Given the description of an element on the screen output the (x, y) to click on. 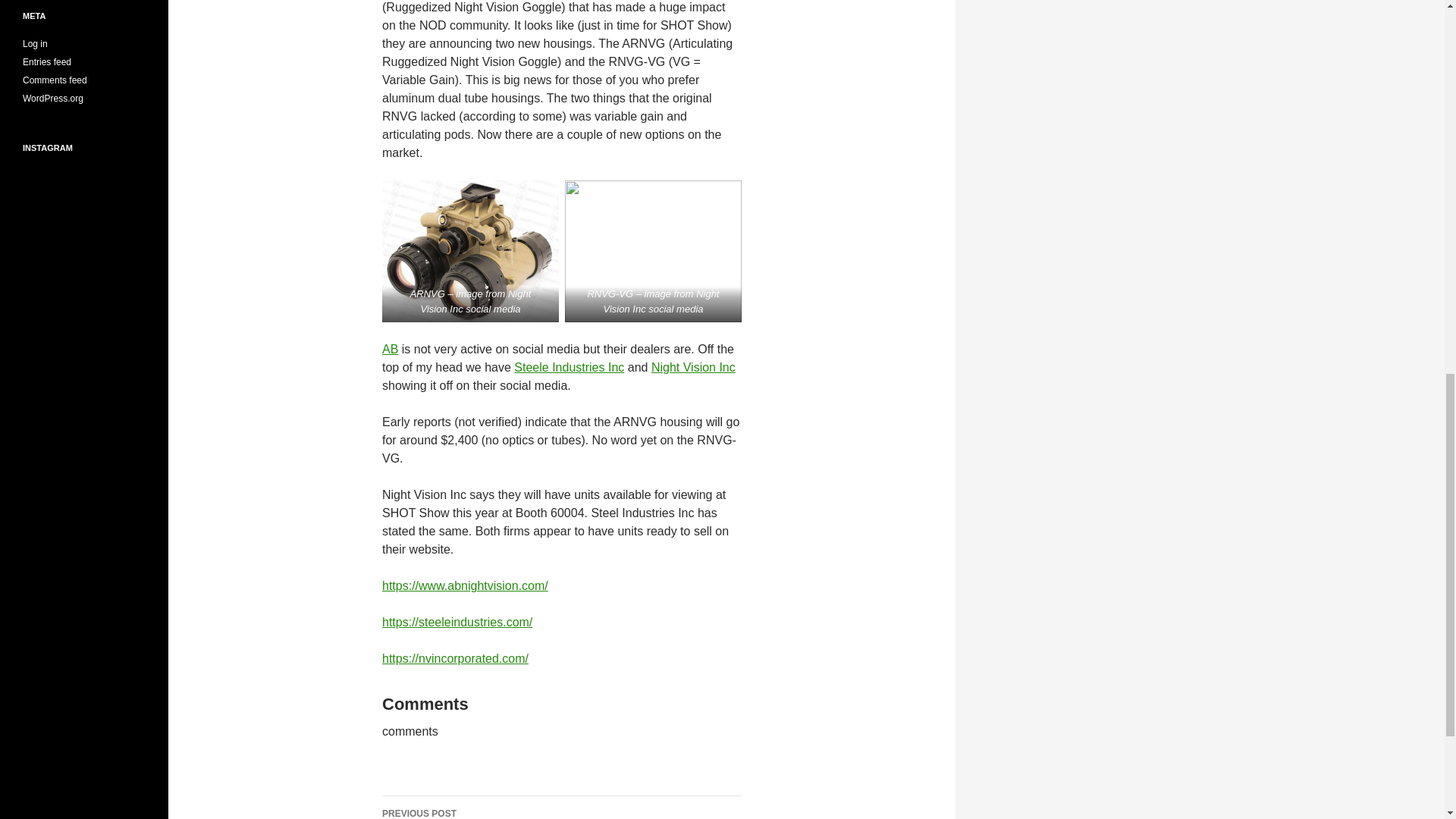
AB (389, 349)
Night Vision Inc (692, 367)
Steele Industries Inc (568, 367)
